Given the description of an element on the screen output the (x, y) to click on. 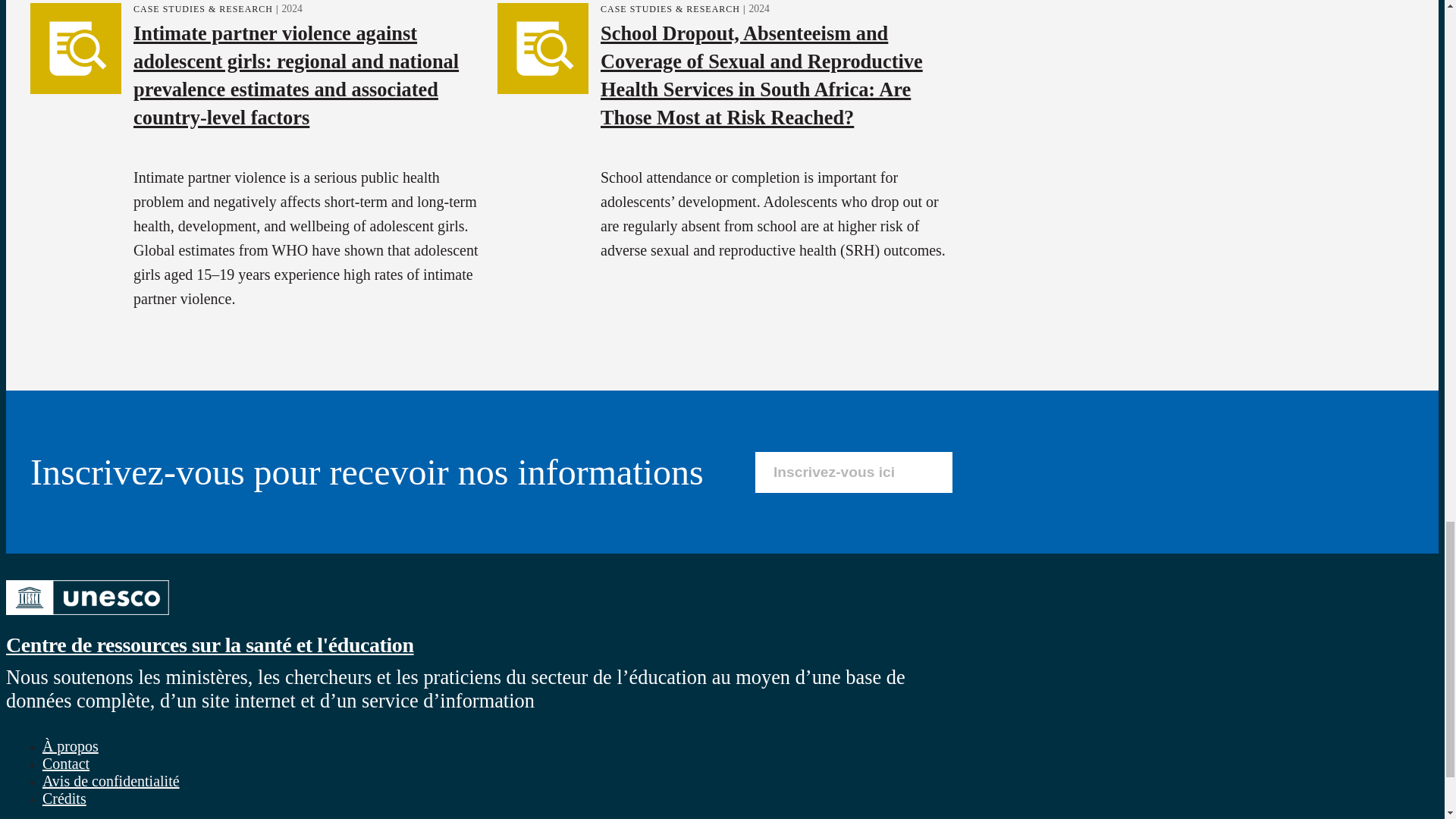
Home (209, 644)
Home (86, 617)
